Given the description of an element on the screen output the (x, y) to click on. 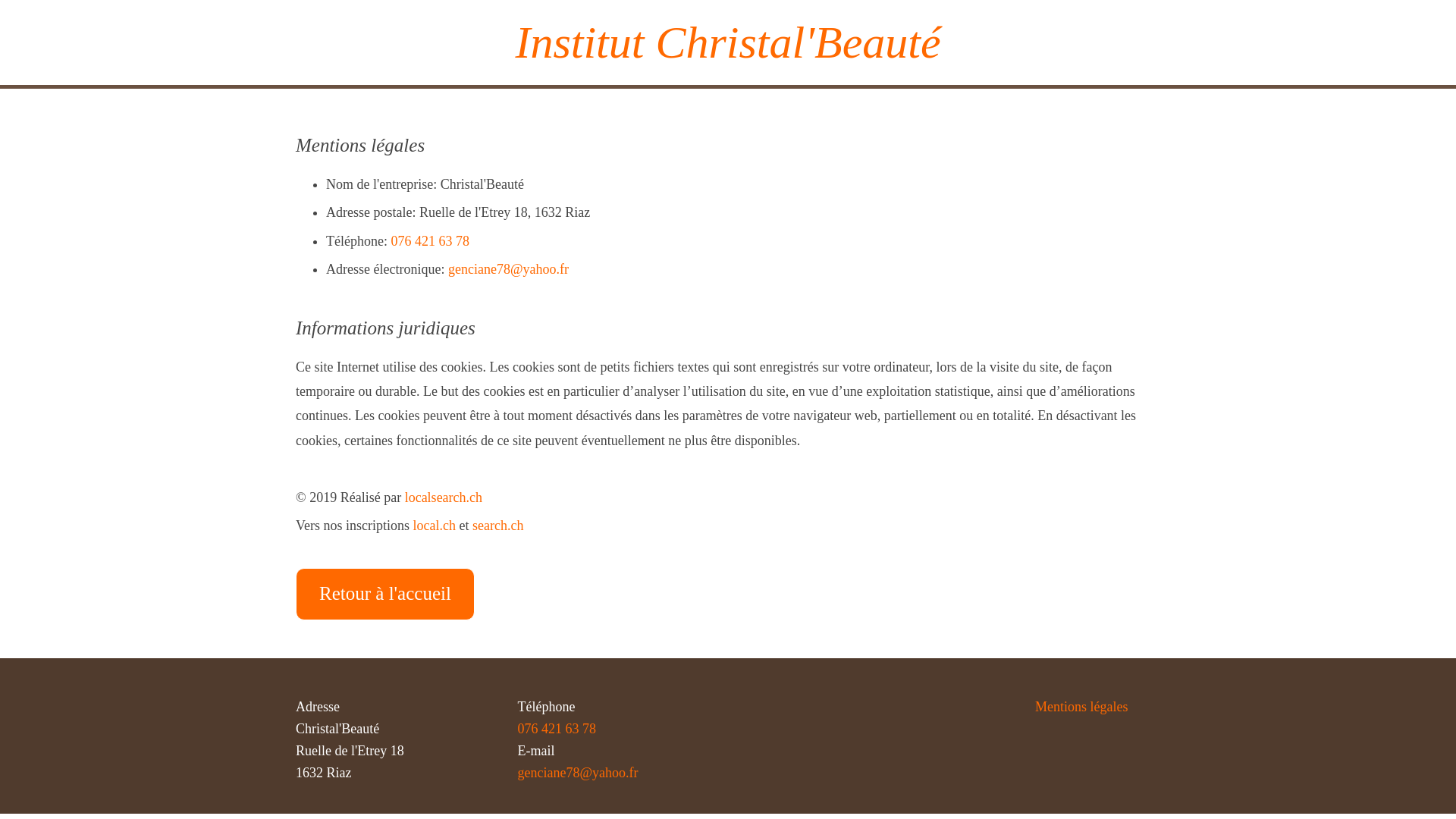
076 421 63 78 Element type: text (429, 240)
search.ch Element type: text (497, 525)
076 421 63 78 Element type: text (556, 728)
genciane78@yahoo.fr Element type: text (577, 772)
localsearch.ch Element type: text (443, 497)
genciane78@yahoo.fr Element type: text (508, 268)
local.ch Element type: text (433, 525)
